Given the description of an element on the screen output the (x, y) to click on. 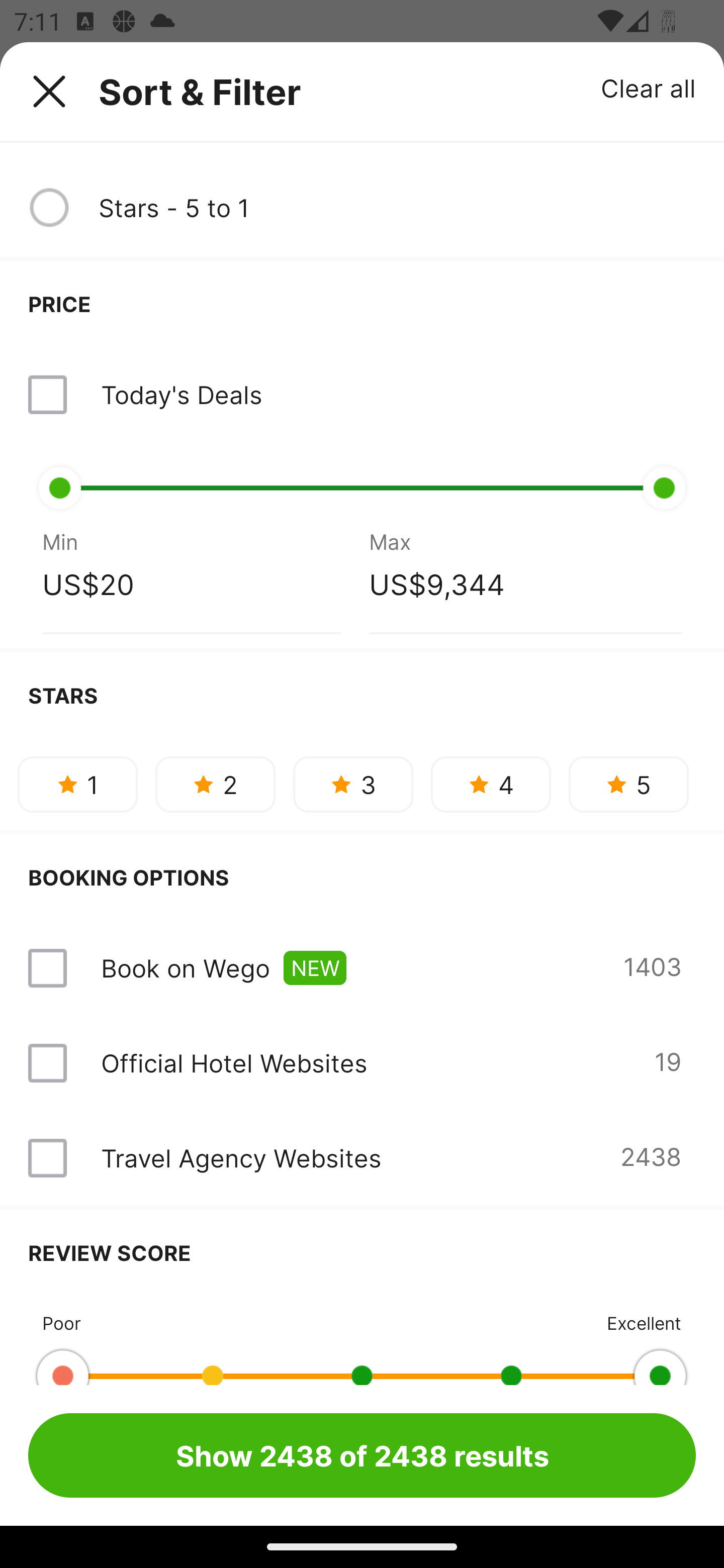
Clear all (648, 87)
Stars - 5 to 1 (396, 207)
Today's Deals (362, 394)
Today's Deals (181, 394)
1 (77, 783)
2 (214, 783)
3 (352, 783)
4 (491, 783)
5 (627, 783)
Book on Wego NEW 1403 (362, 968)
Book on Wego (184, 968)
Official Hotel Websites 19 (362, 1063)
Official Hotel Websites (233, 1062)
Travel Agency Websites 2438 (362, 1157)
Travel Agency Websites (240, 1157)
Poor Excellent (362, 1340)
Show 2438 of 2438 results (361, 1454)
